Given the description of an element on the screen output the (x, y) to click on. 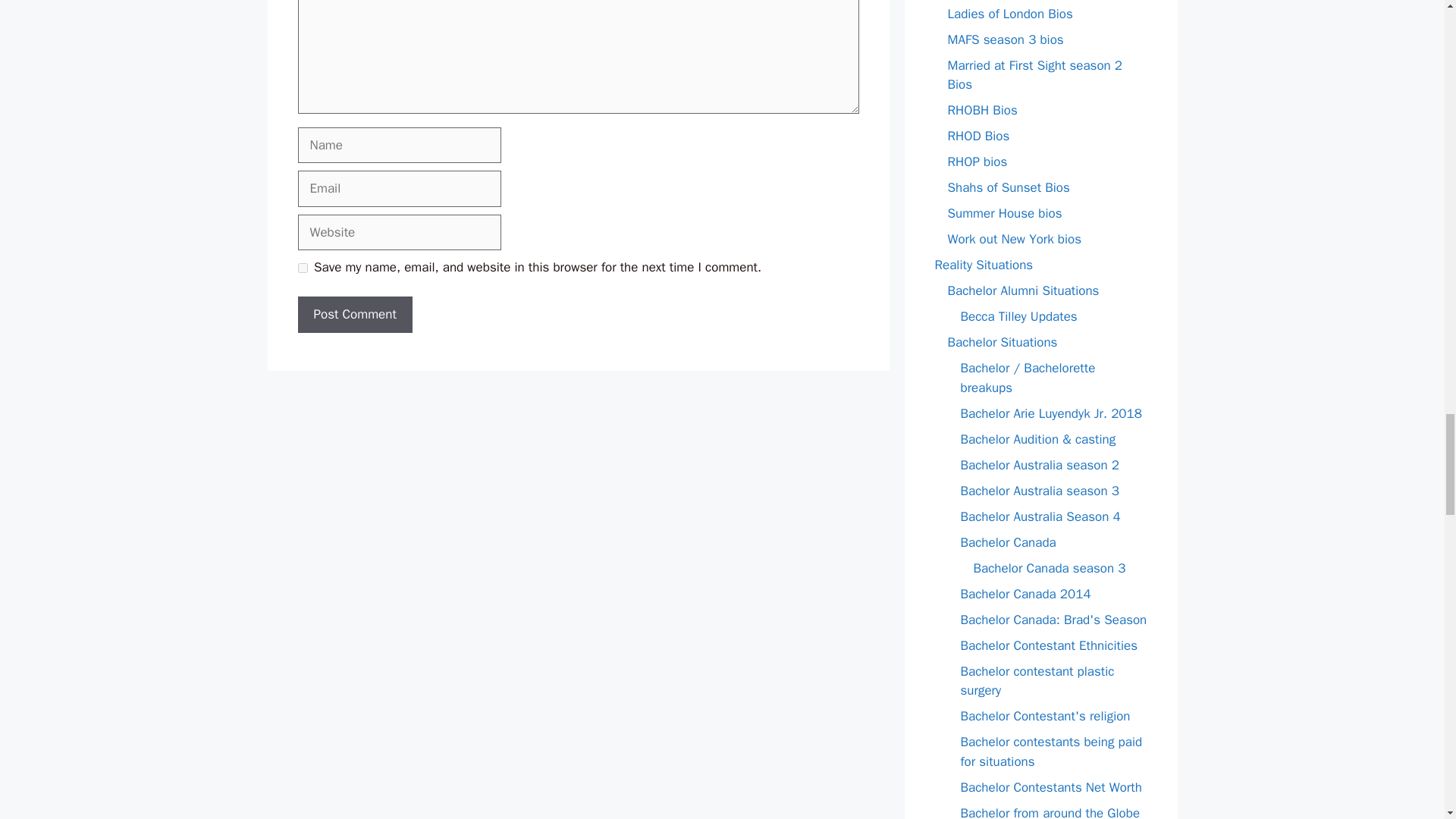
Post Comment (354, 314)
yes (302, 267)
